Given the description of an element on the screen output the (x, y) to click on. 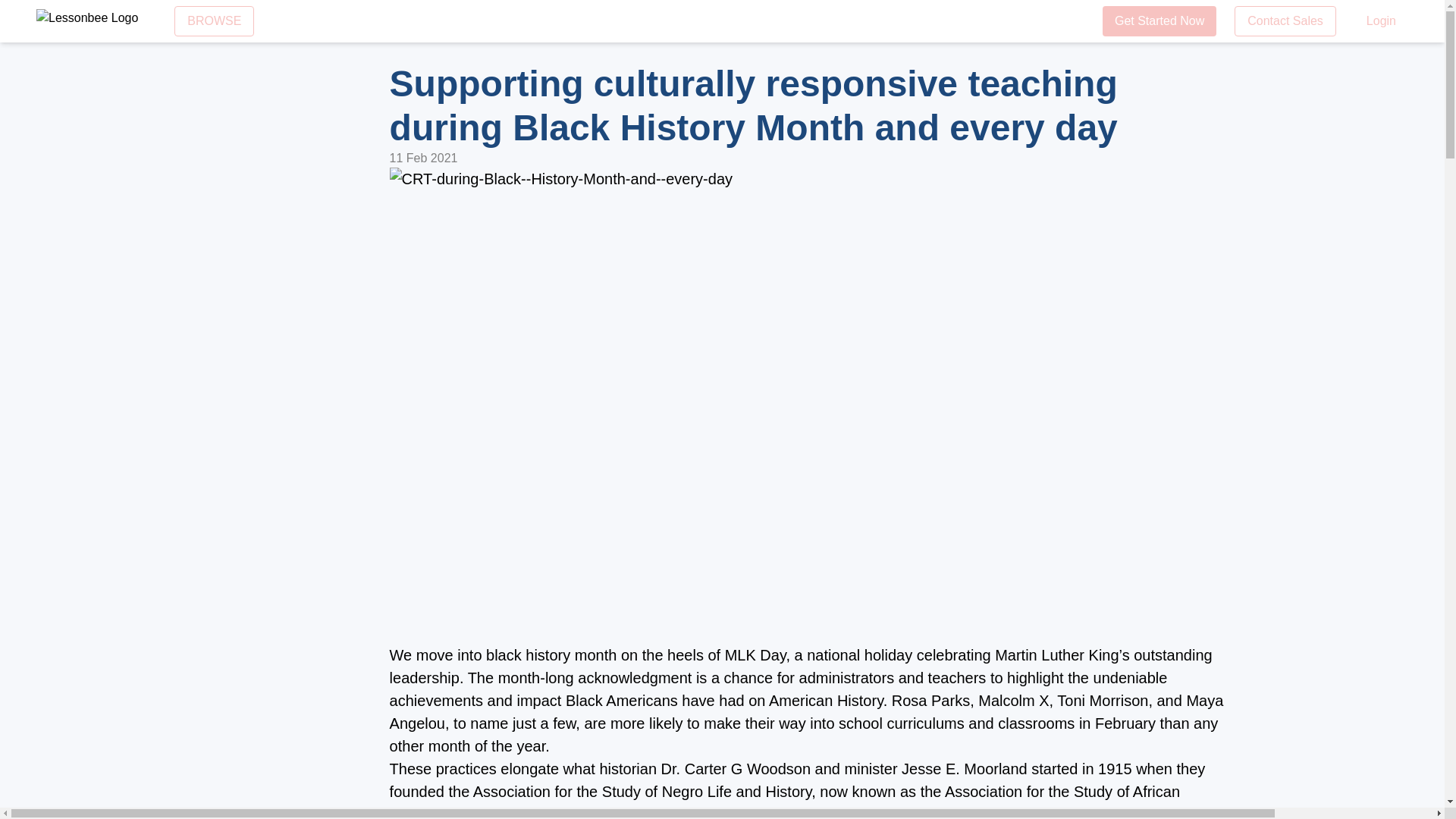
BROWSE (213, 20)
Get Started Now (1158, 20)
Contact Sales (1285, 20)
Login (1380, 20)
Login (1380, 19)
Get Started Now (1158, 19)
Contact Sales (1285, 19)
